Given the description of an element on the screen output the (x, y) to click on. 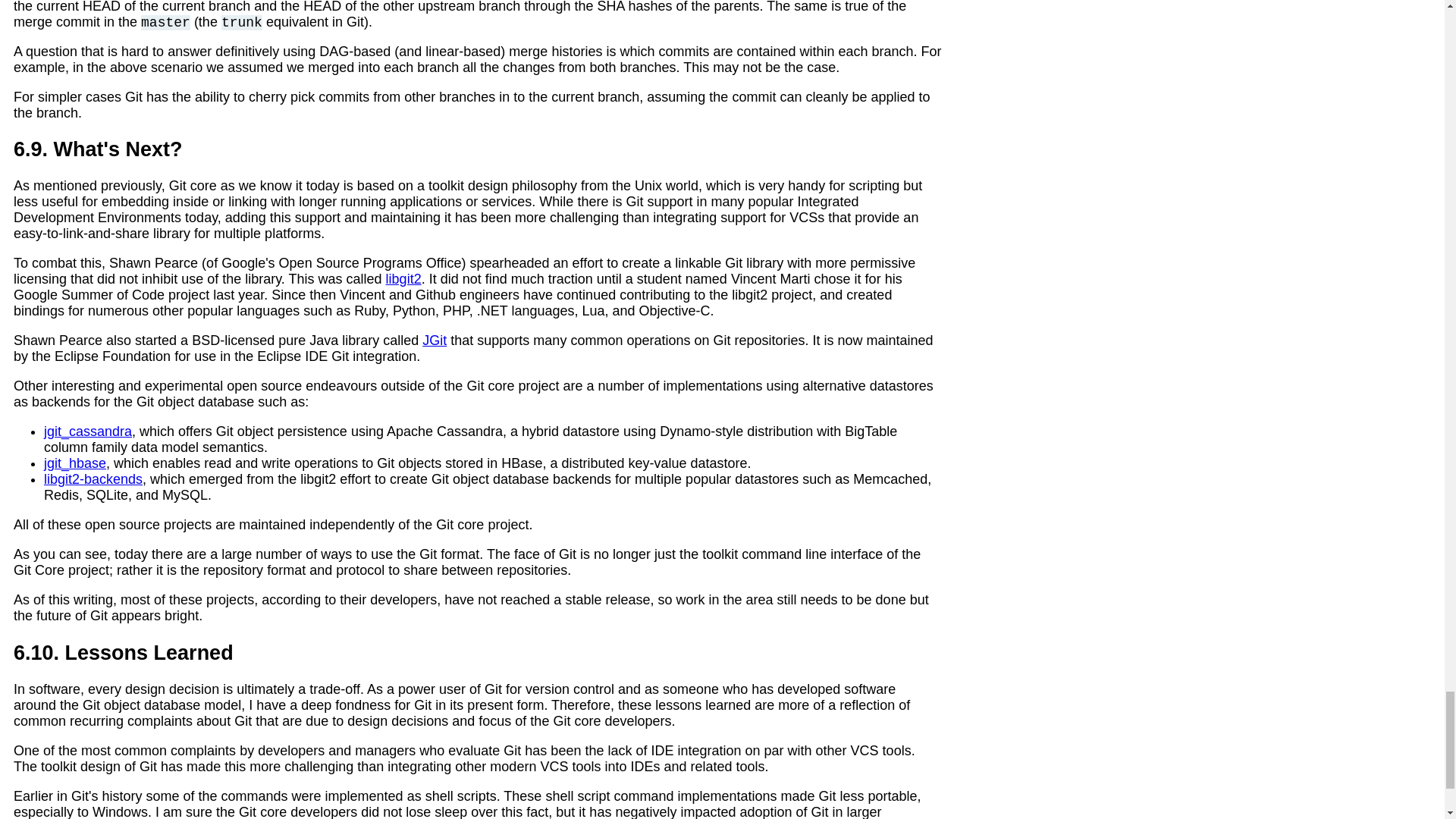
libgit2 (403, 278)
JGit (434, 340)
libgit2-backends (92, 478)
